Given the description of an element on the screen output the (x, y) to click on. 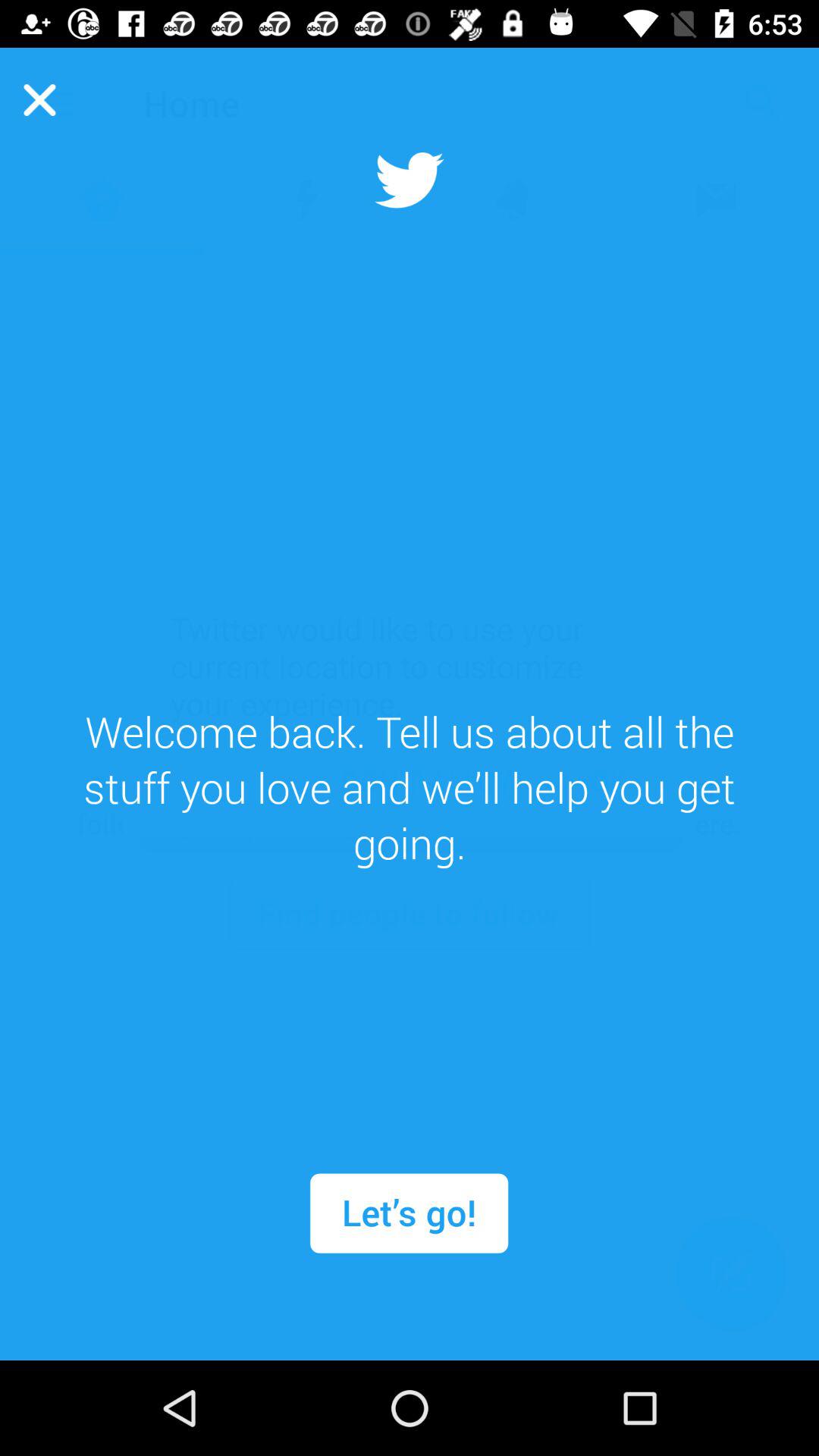
press item below the welcome back tell item (409, 1213)
